Given the description of an element on the screen output the (x, y) to click on. 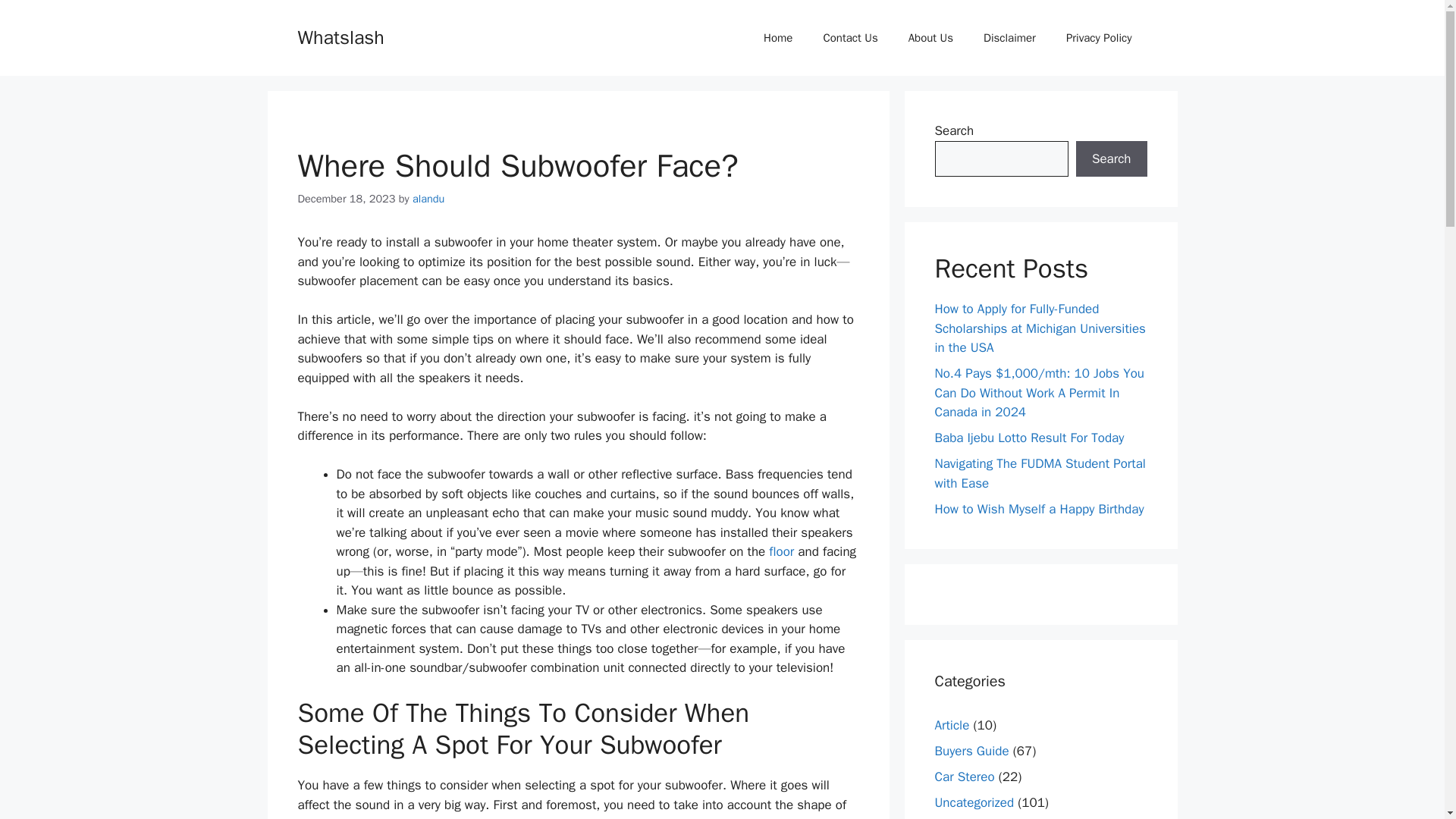
Car Stereo (964, 776)
Disclaimer (1009, 37)
Buyers Guide (971, 750)
Uncategorized (973, 802)
Article (951, 725)
Baba Ijebu Lotto Result For Today (1029, 437)
Whatslash (340, 37)
floor (780, 551)
Search (1111, 158)
